Given the description of an element on the screen output the (x, y) to click on. 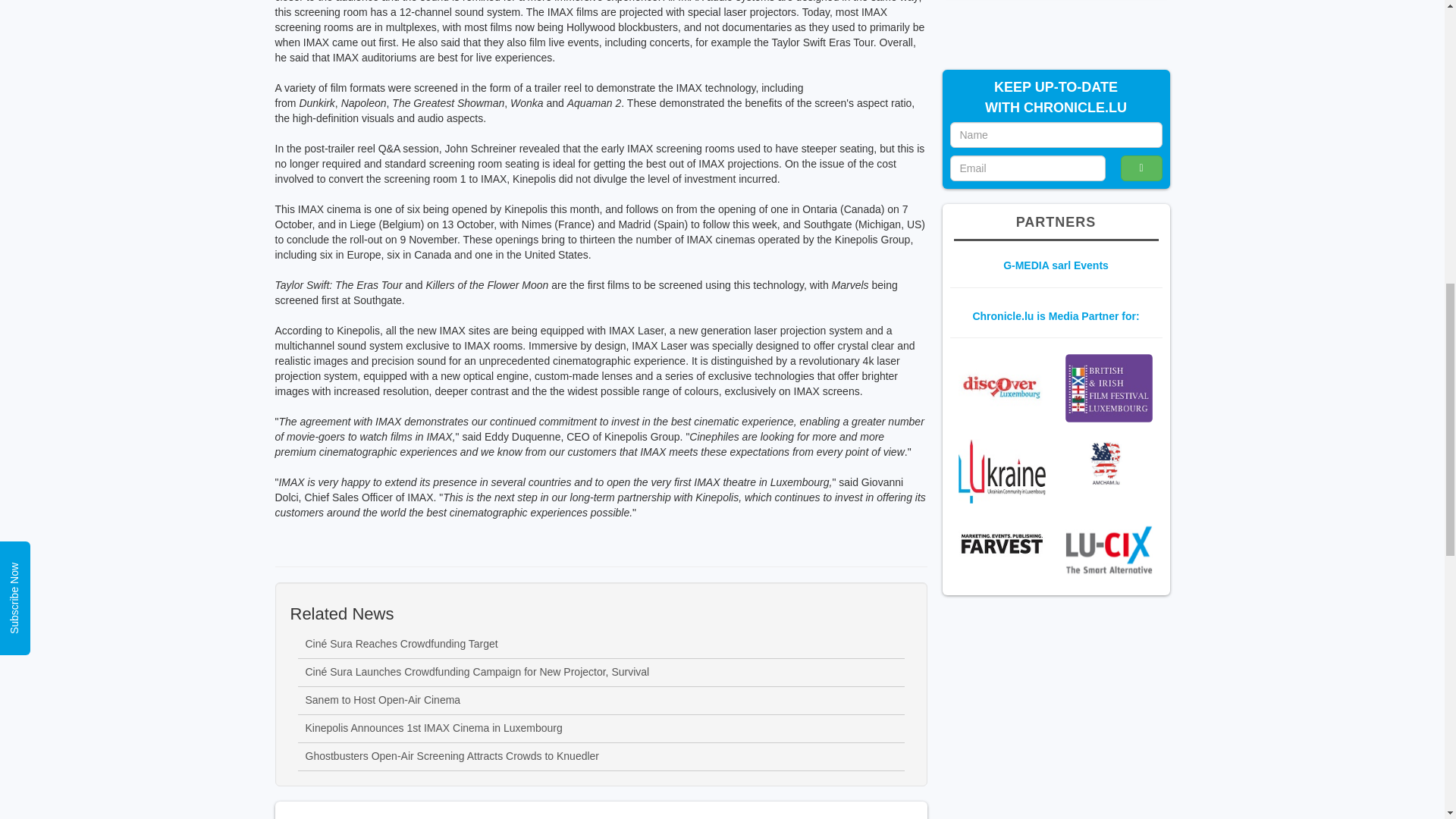
LUkraine (1000, 471)
BIFFL (1108, 387)
Discover Luxembourg (1000, 386)
Farvest (1000, 544)
AMCHAM (1108, 463)
LU CIX (1108, 549)
